Given the description of an element on the screen output the (x, y) to click on. 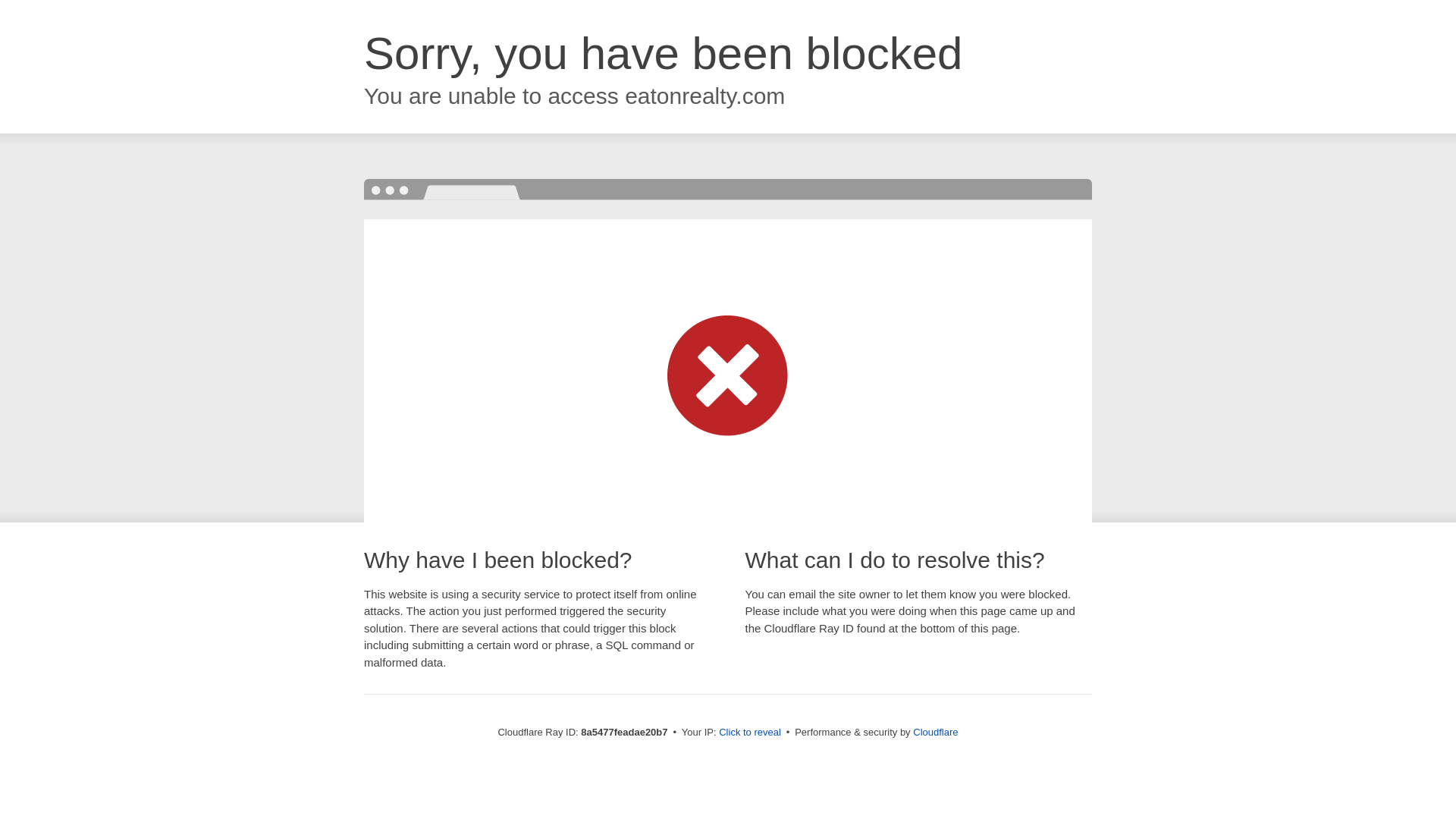
Click to reveal (749, 732)
Cloudflare (935, 731)
